Given the description of an element on the screen output the (x, y) to click on. 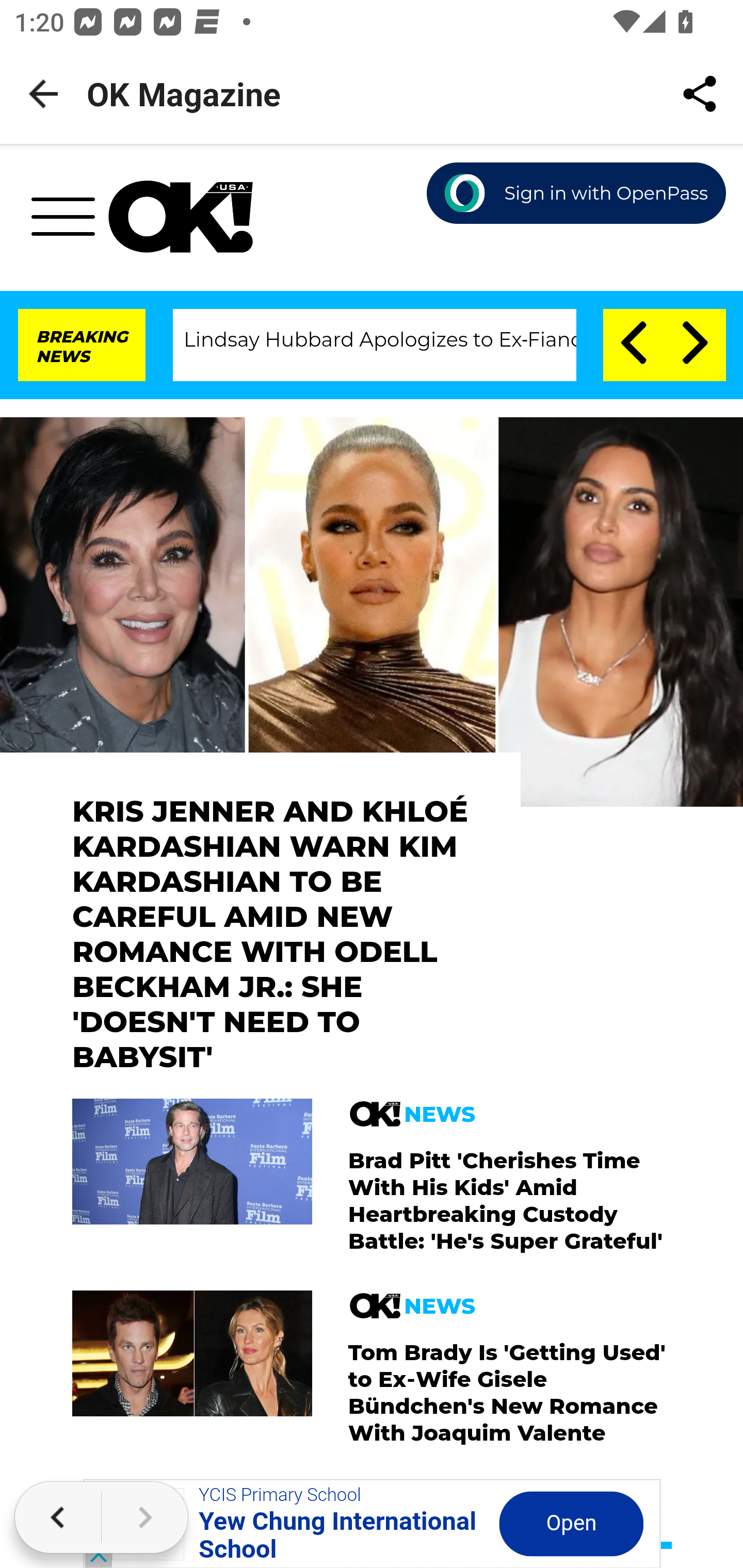
Sign in with OpenPass Button (576, 194)
toggle (70, 221)
OK Magazine (180, 217)
YCIS Primary School (280, 1494)
Open (571, 1523)
